Given the description of an element on the screen output the (x, y) to click on. 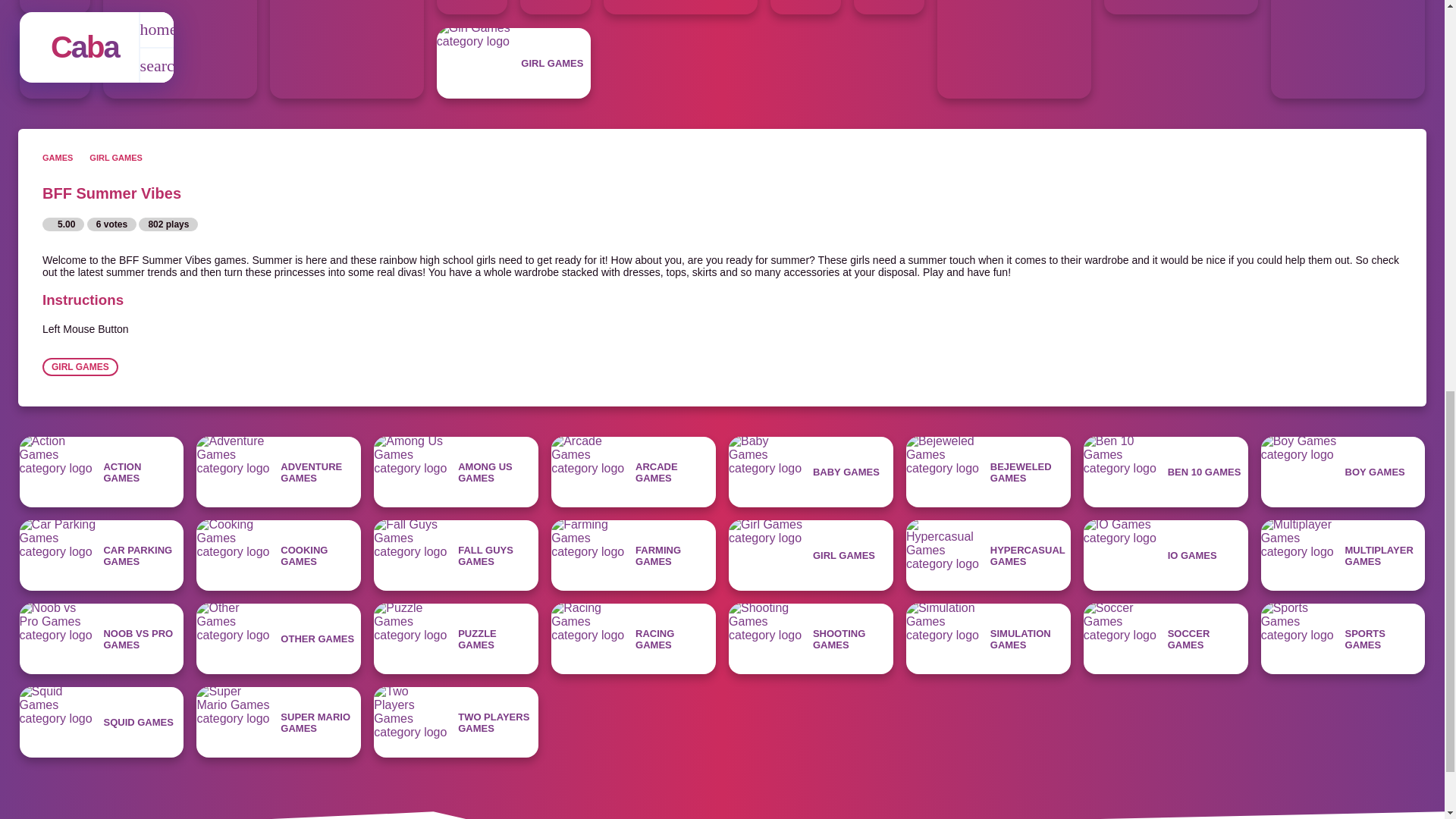
Girl Games (513, 62)
